Given the description of an element on the screen output the (x, y) to click on. 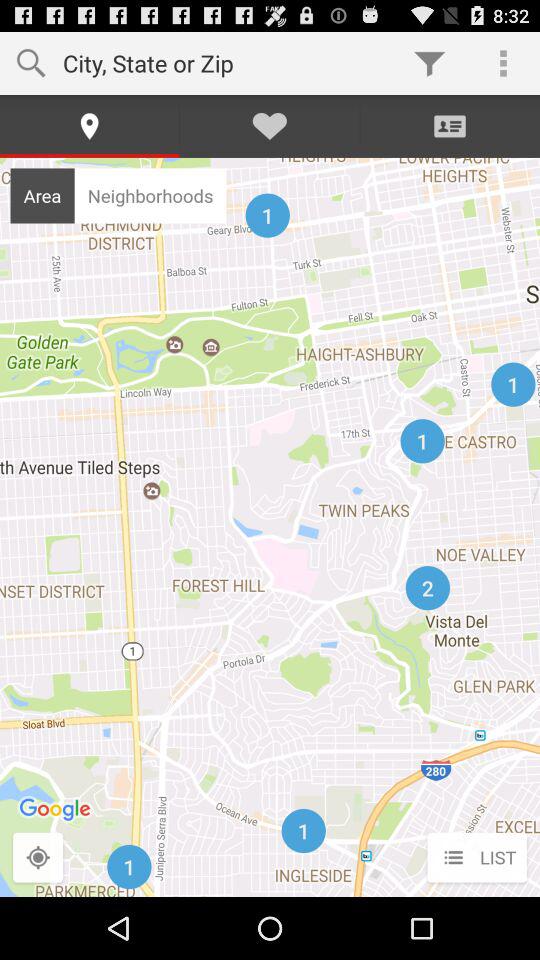
flip until the list item (476, 858)
